Given the description of an element on the screen output the (x, y) to click on. 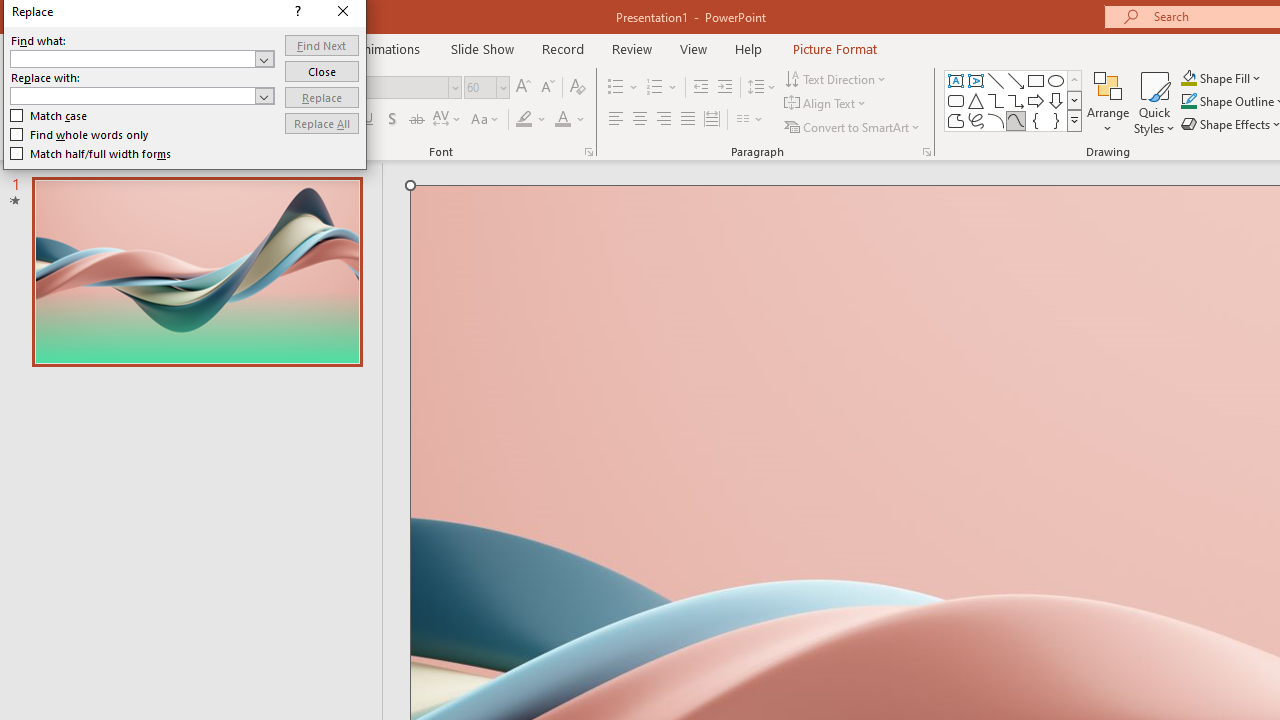
Picture Format (834, 48)
Shapes (1074, 120)
Columns (750, 119)
Font... (588, 151)
Close (321, 70)
Decrease Indent (700, 87)
Help (748, 48)
Align Right (663, 119)
Convert to SmartArt (853, 126)
Replace with (132, 95)
Right Brace (1055, 120)
Line (995, 80)
Decrease Font Size (547, 87)
Arrow: Right (1035, 100)
